Given the description of an element on the screen output the (x, y) to click on. 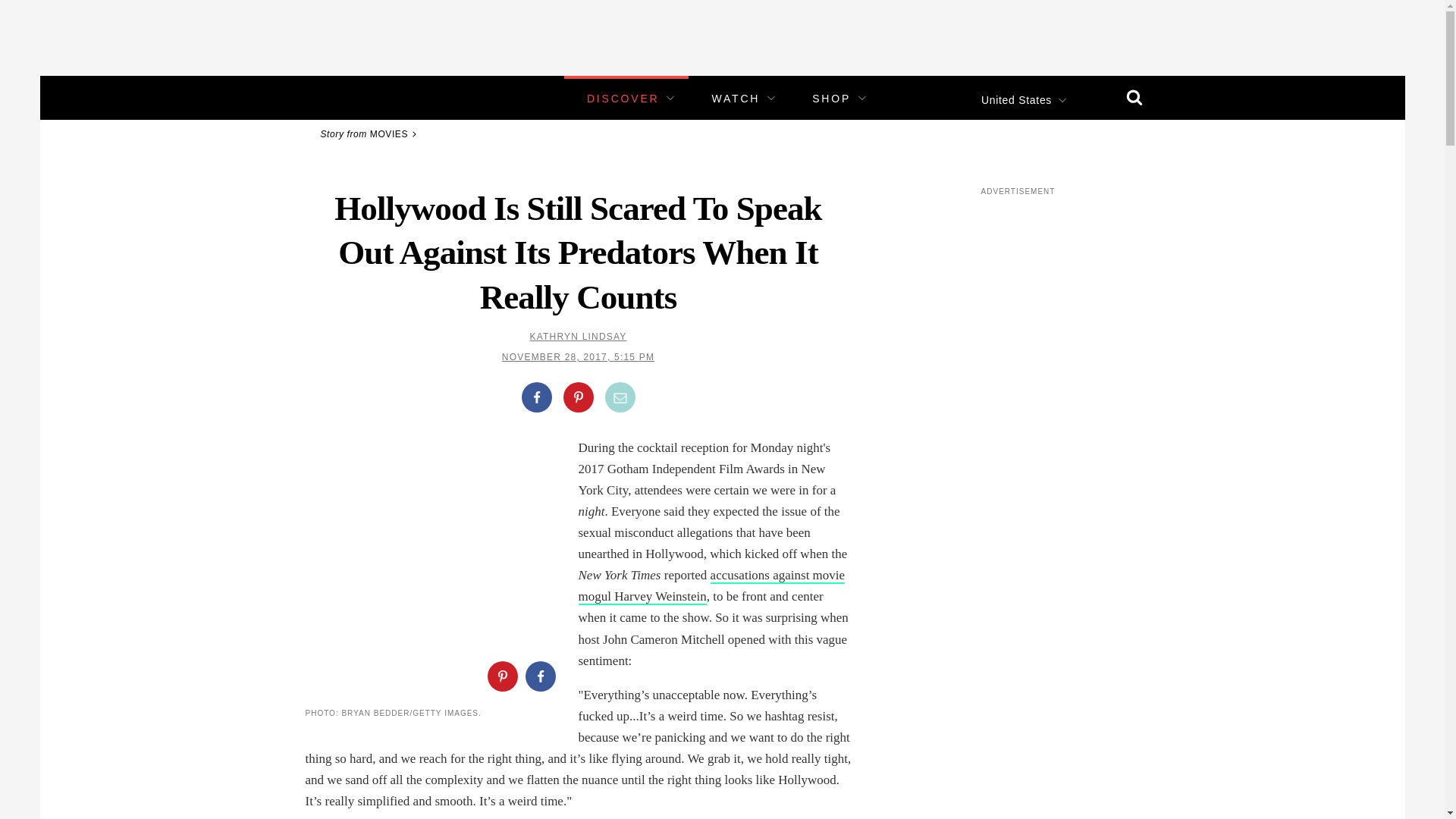
WATCH (735, 98)
Share by Email (619, 397)
Share on Pinterest (501, 675)
NOVEMBER 28, 2017, 5:15 PM (577, 357)
Share on Pinterest (577, 397)
Story from MOVIES (371, 133)
SHOP (831, 98)
Refinery29 (352, 97)
accusations against movie mogul Harvey Weinstein (711, 586)
KATHRYN LINDSAY (577, 336)
